Given the description of an element on the screen output the (x, y) to click on. 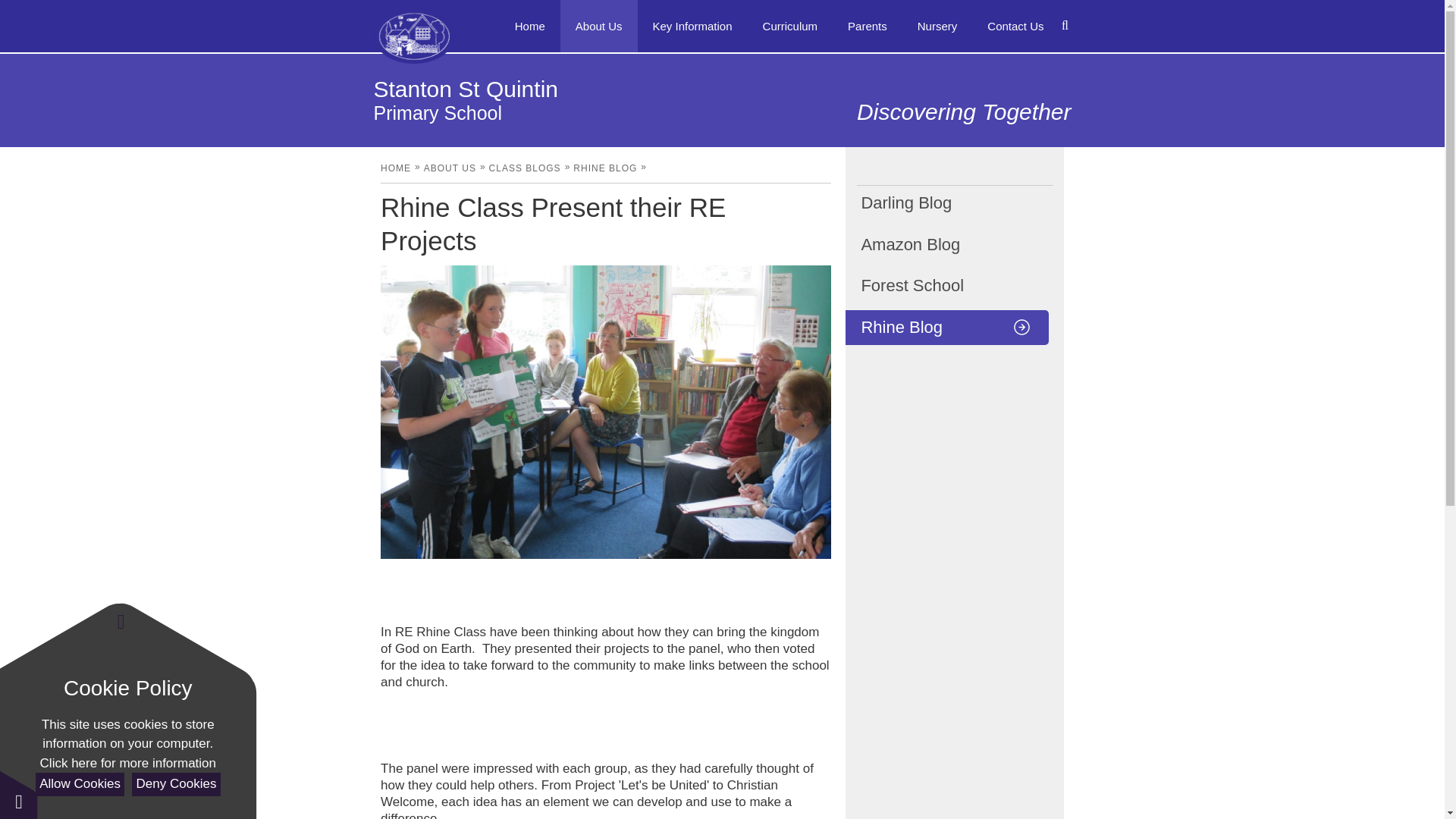
Key Information (691, 26)
Deny Cookies (175, 784)
Forest School (946, 285)
Nursery (937, 26)
Curriculum (790, 26)
See cookie policy (127, 763)
Allow Cookies (78, 784)
About Us (598, 26)
RHINE BLOG (605, 167)
Contact Us (1015, 26)
